Given the description of an element on the screen output the (x, y) to click on. 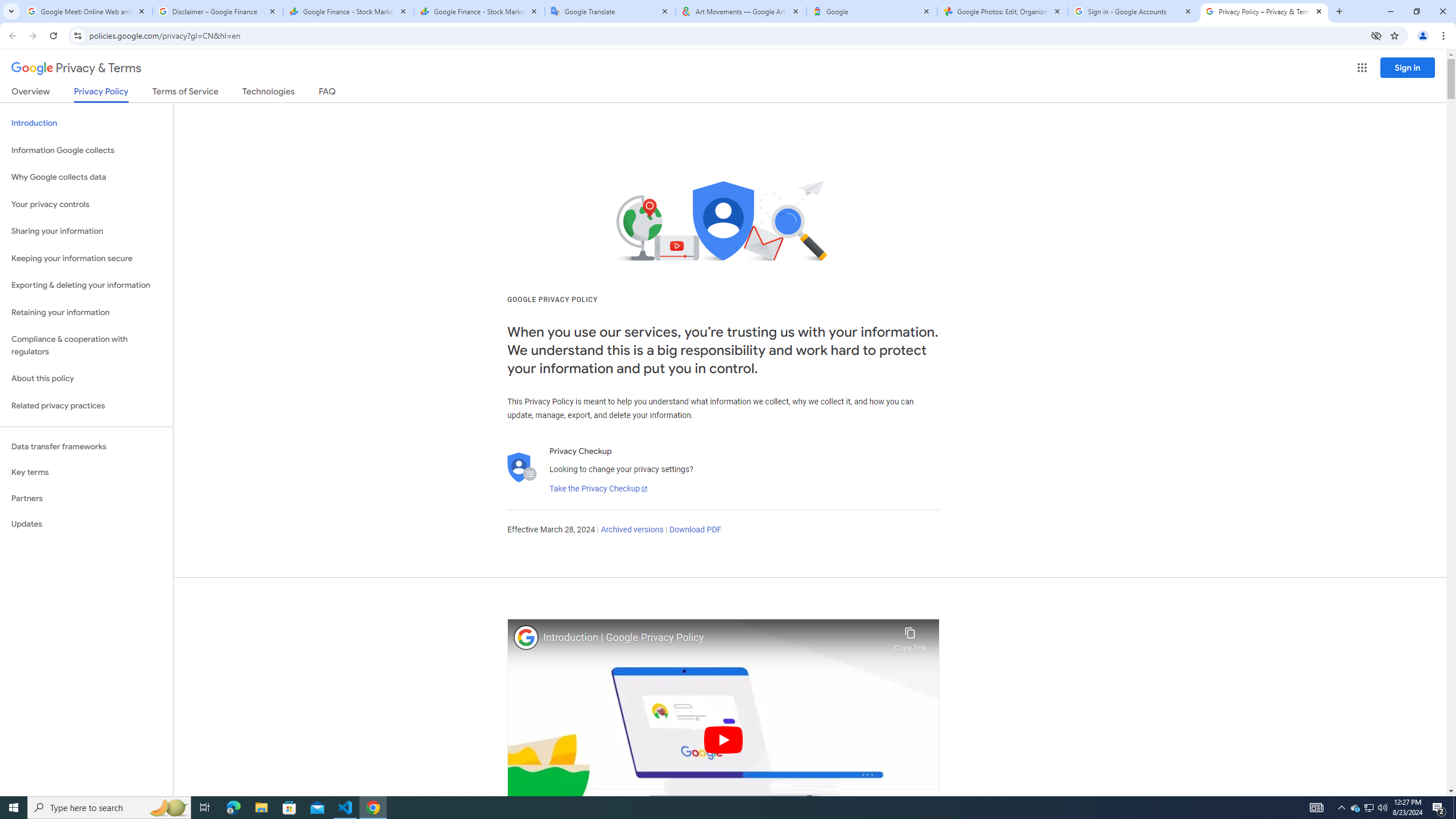
Google Translate (610, 11)
